Given the description of an element on the screen output the (x, y) to click on. 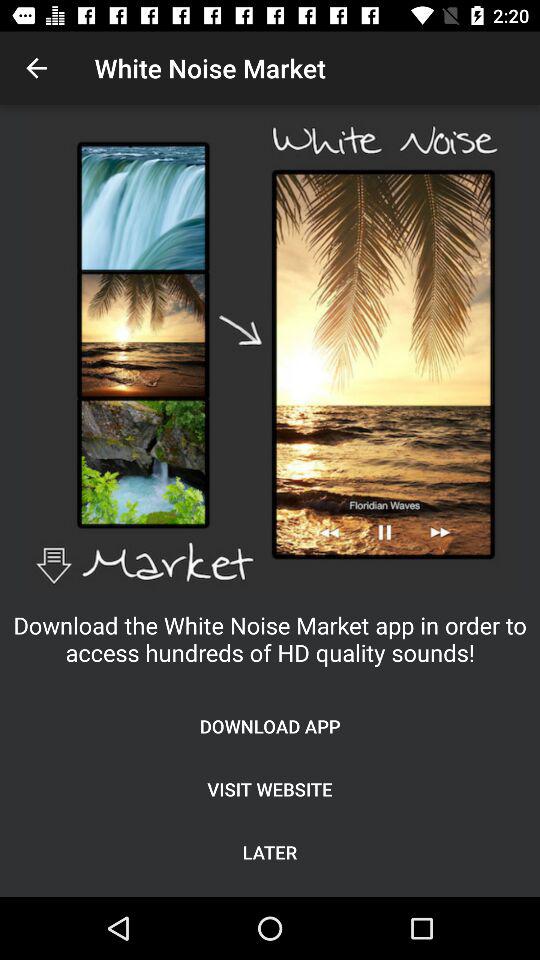
click icon at the top left corner (36, 68)
